Given the description of an element on the screen output the (x, y) to click on. 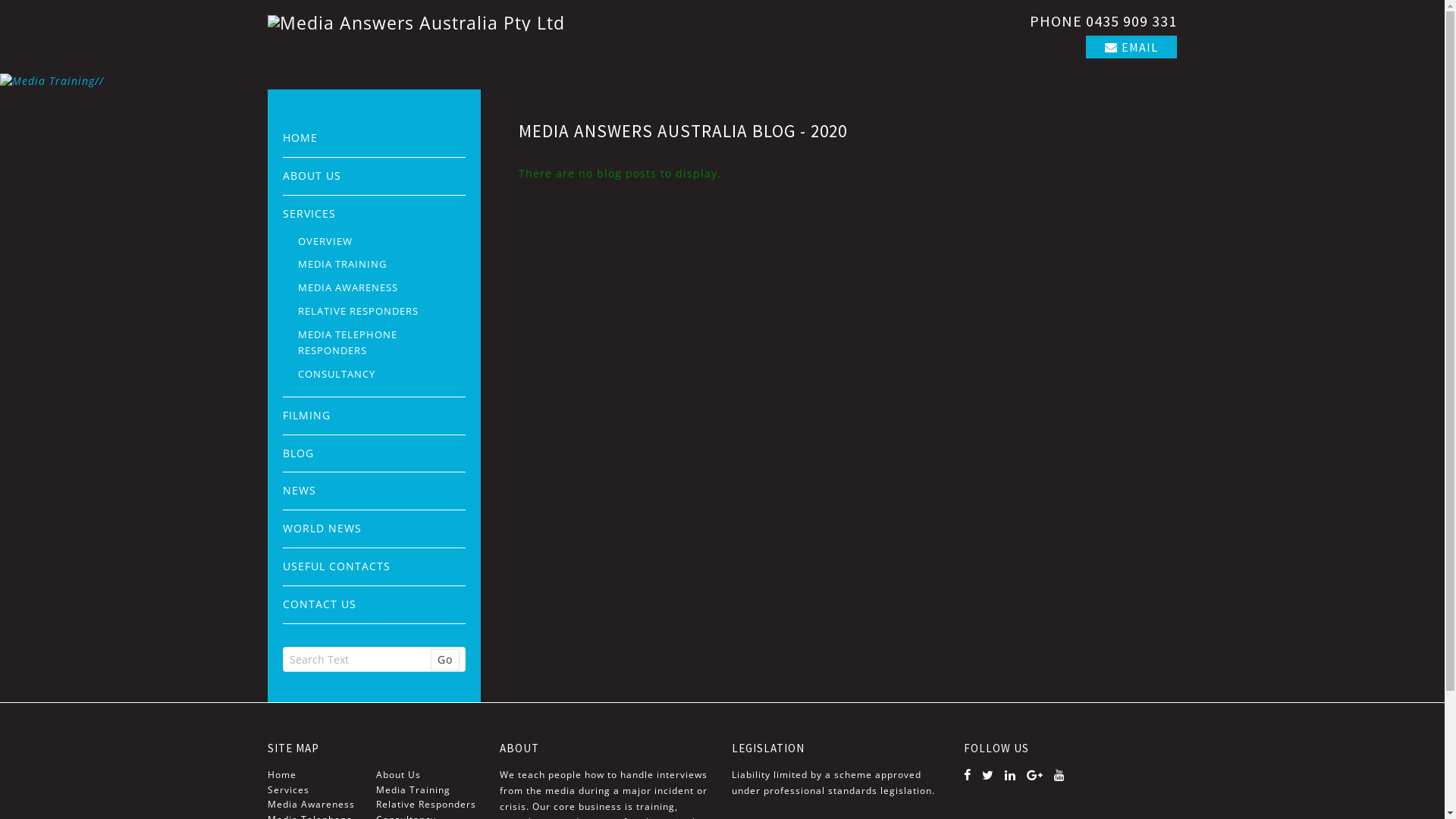
USEFUL CONTACTS Element type: text (373, 566)
About Us Element type: text (428, 774)
Media Awareness Element type: text (319, 804)
ABOUT US Element type: text (373, 176)
Go Element type: text (444, 659)
RELATIVE RESPONDERS Element type: text (381, 311)
OVERVIEW Element type: text (381, 241)
MEDIA ANSWERS AUSTRALIA BLOG Element type: text (656, 130)
Relative Responders Element type: text (428, 804)
NEWS Element type: text (373, 490)
CONTACT US Element type: text (373, 604)
Media Training Element type: text (428, 789)
BLOG Element type: text (373, 453)
0435 909 331 Element type: text (1130, 21)
HOME Element type: text (373, 138)
WORLD NEWS Element type: text (373, 528)
Media Answers Australia Pty Ltd Element type: hover (490, 23)
2020 Element type: text (828, 130)
Home Element type: text (319, 774)
MEDIA TELEPHONE RESPONDERS Element type: text (381, 342)
EMAIL Element type: text (1130, 46)
CONSULTANCY Element type: text (381, 374)
Services Element type: text (319, 789)
FILMING Element type: text (373, 415)
MEDIA AWARENESS Element type: text (381, 287)
Media Training// Element type: hover (722, 81)
MEDIA TRAINING Element type: text (381, 264)
